Given the description of an element on the screen output the (x, y) to click on. 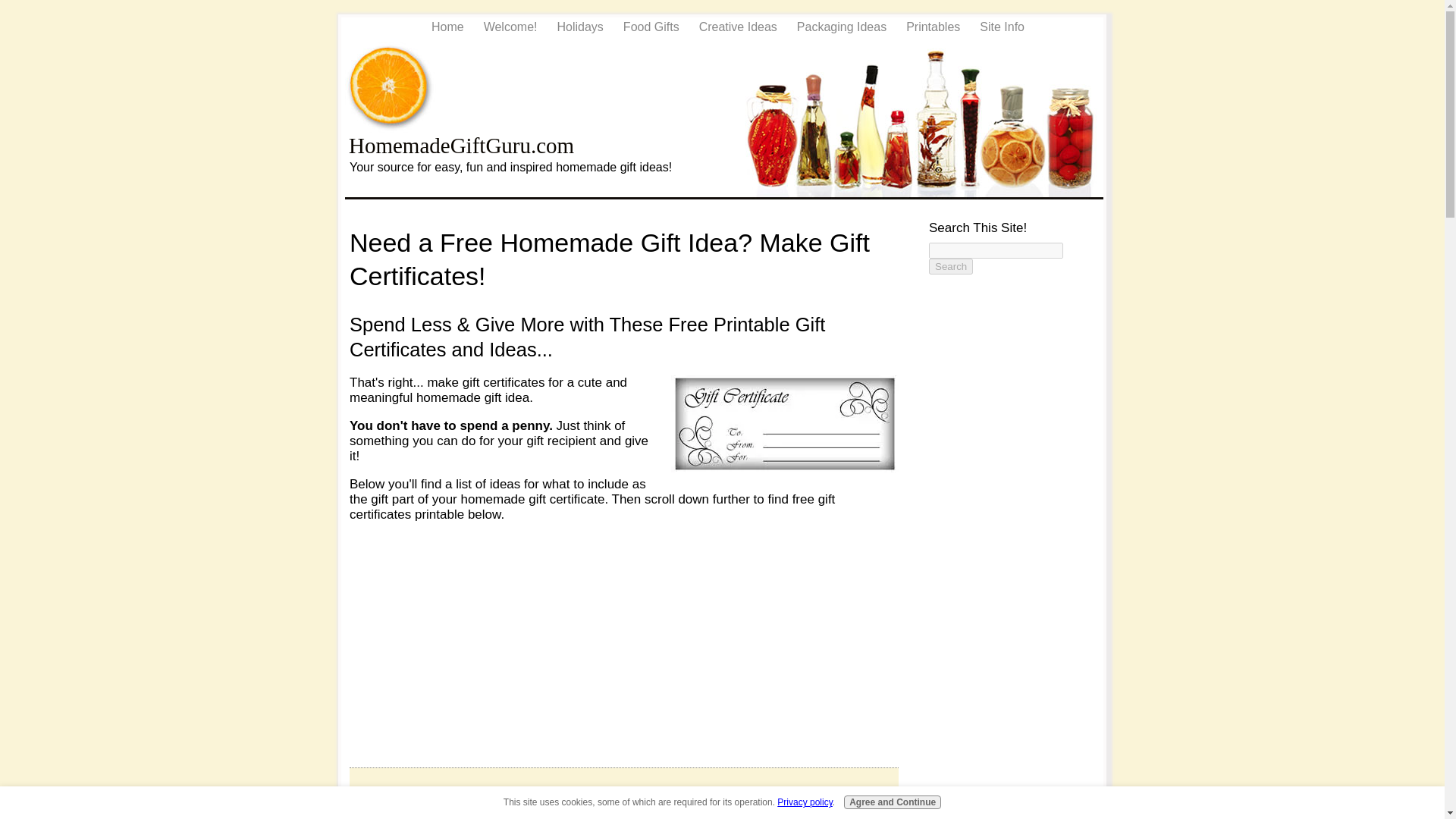
Make gift certificates! (784, 423)
HomemadeGiftGuru.com (461, 145)
Home (443, 26)
Search (950, 266)
